Given the description of an element on the screen output the (x, y) to click on. 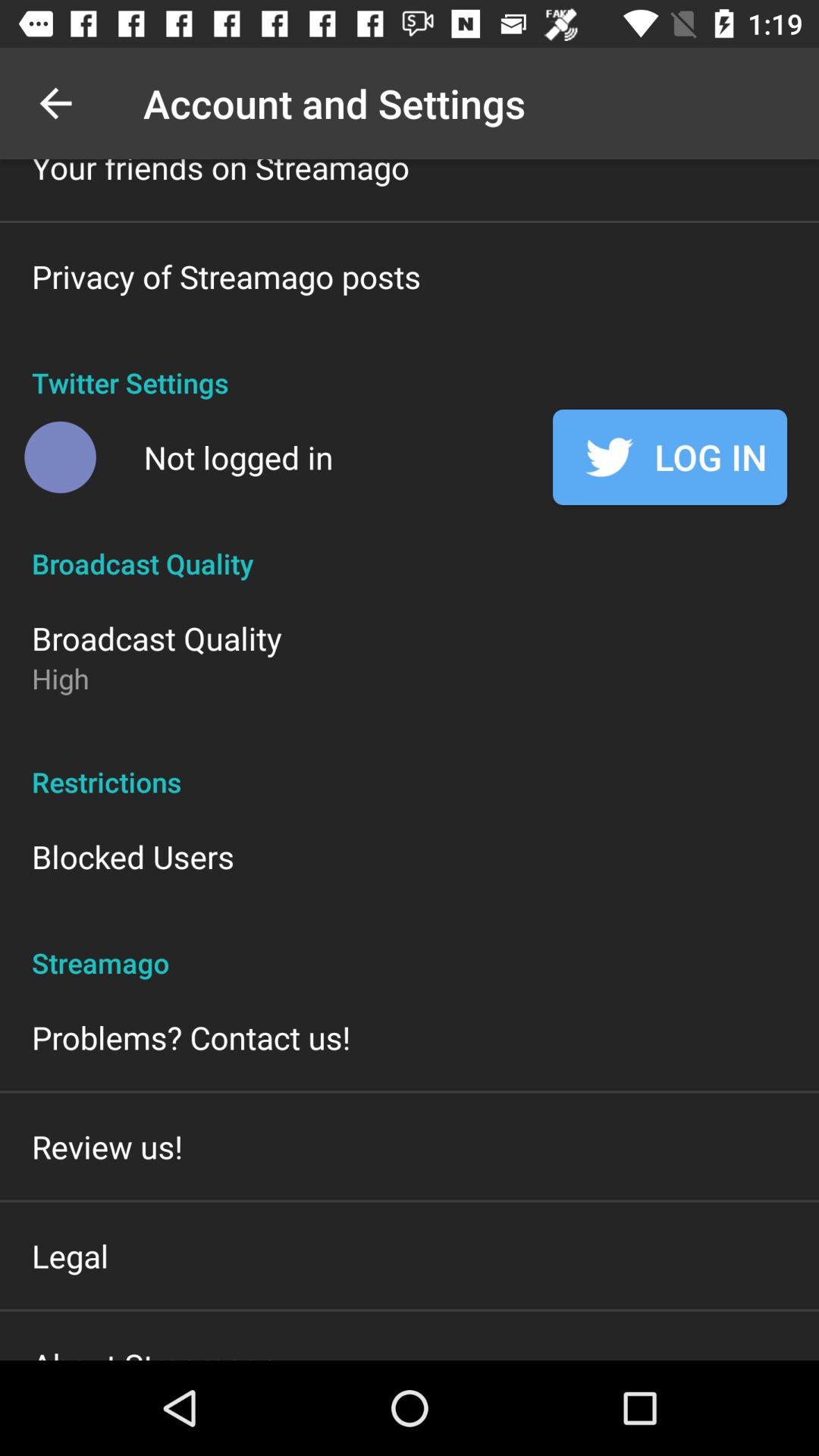
tap item above the restrictions item (60, 678)
